Given the description of an element on the screen output the (x, y) to click on. 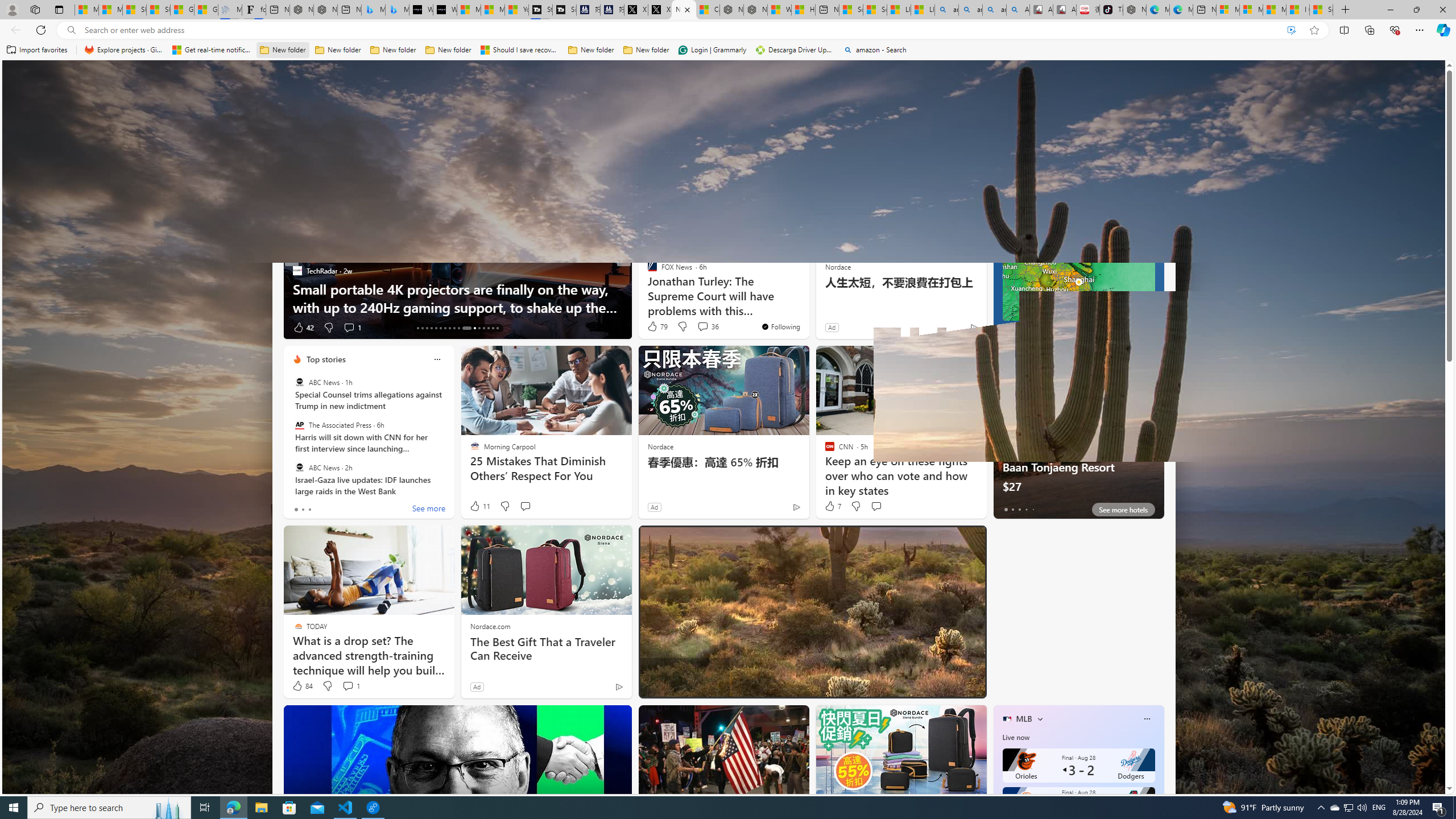
Favorites bar (728, 49)
84 Like (301, 685)
Autos (850, 151)
Workspaces (34, 9)
View comments 1 Comment (350, 685)
Shopping (705, 151)
11 Like (479, 505)
Map (1085, 233)
317 Like (654, 327)
tab-0 (1005, 509)
Forge of Empires (668, 288)
Wildlife - MSN (779, 9)
